Given the description of an element on the screen output the (x, y) to click on. 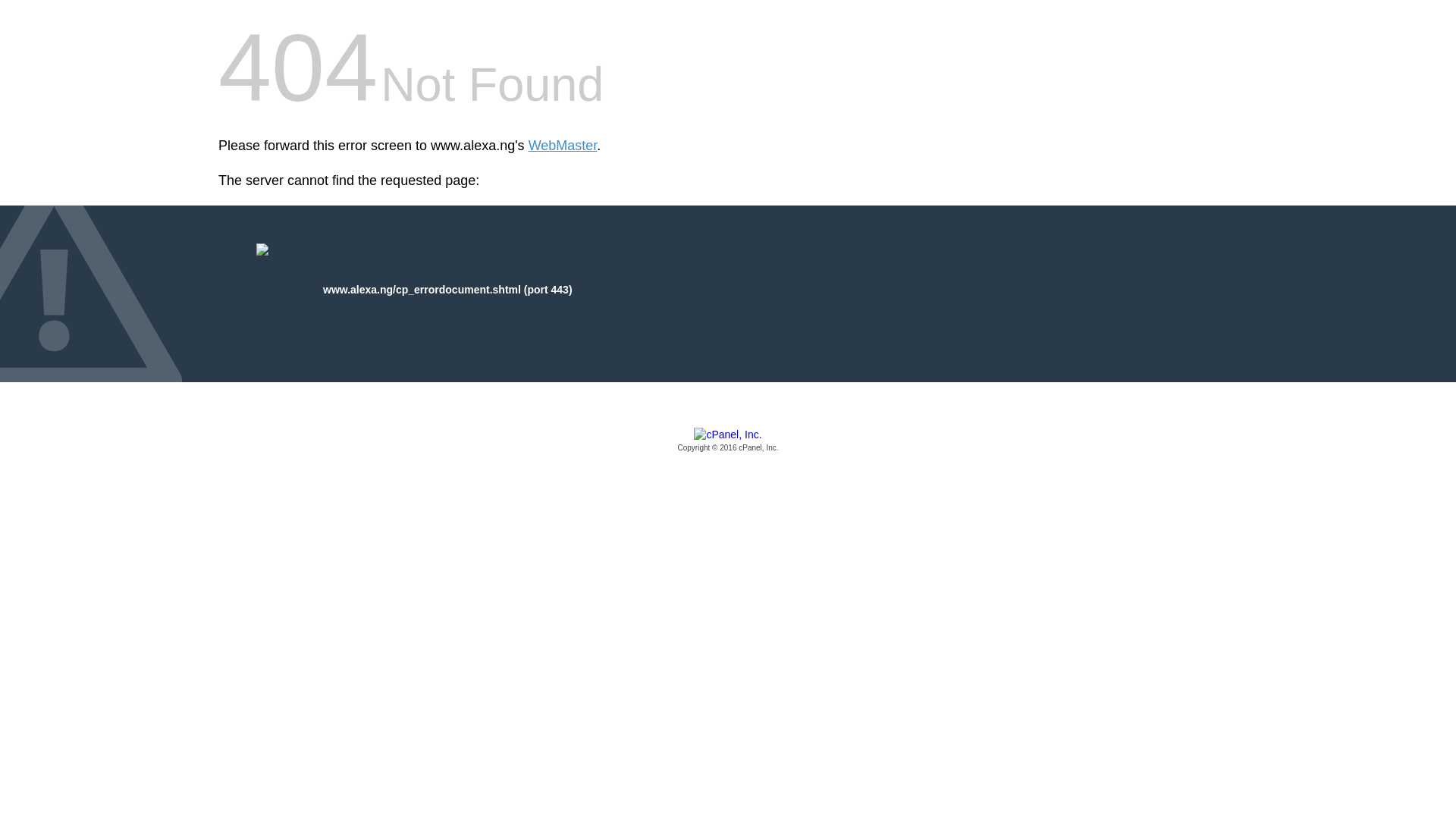
WebMaster (562, 145)
cPanel, Inc. (727, 440)
